Given the description of an element on the screen output the (x, y) to click on. 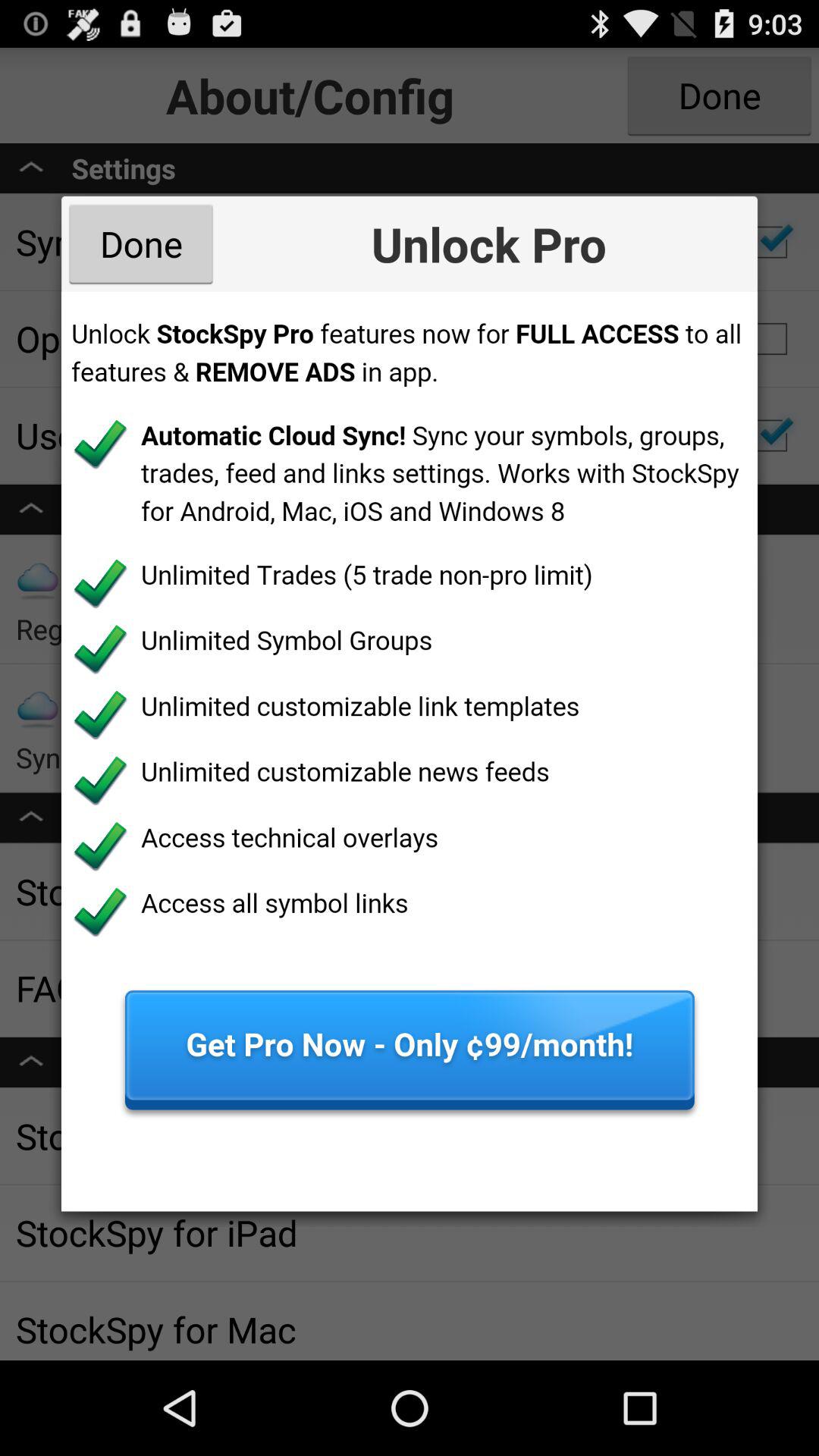
order pro (409, 751)
